Given the description of an element on the screen output the (x, y) to click on. 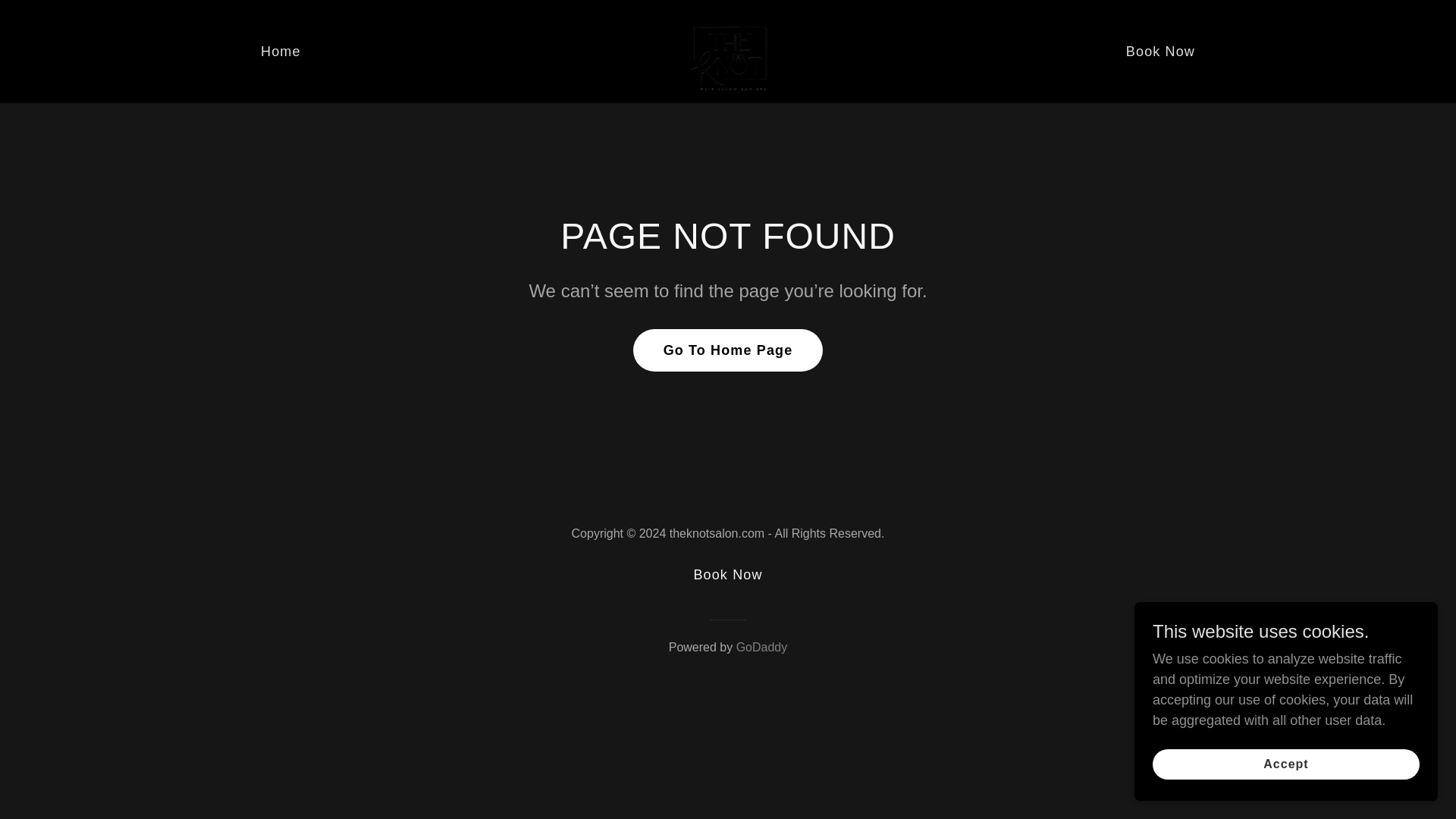
The Knot Hair Salon and Spa (727, 50)
Home (280, 51)
Go To Home Page (728, 350)
Book Now (1160, 51)
GoDaddy (761, 646)
Book Now (727, 574)
Accept (1286, 764)
